Given the description of an element on the screen output the (x, y) to click on. 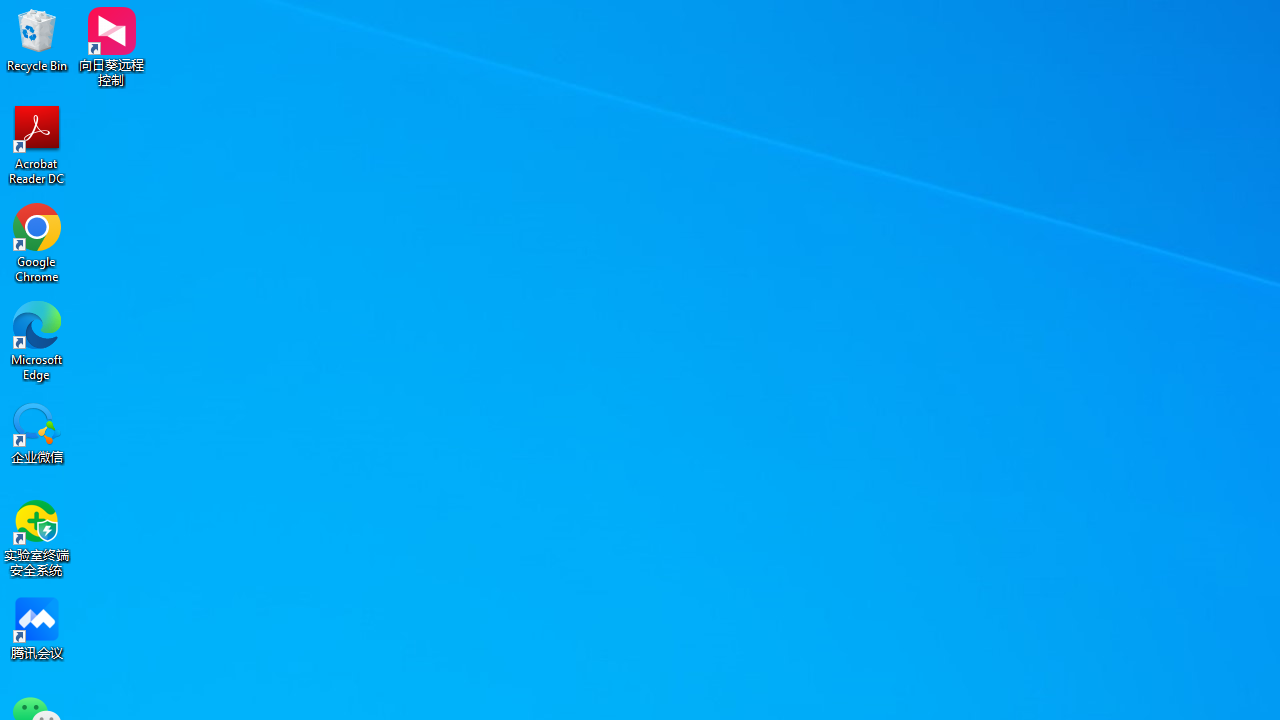
Italic (344, 119)
